Given the description of an element on the screen output the (x, y) to click on. 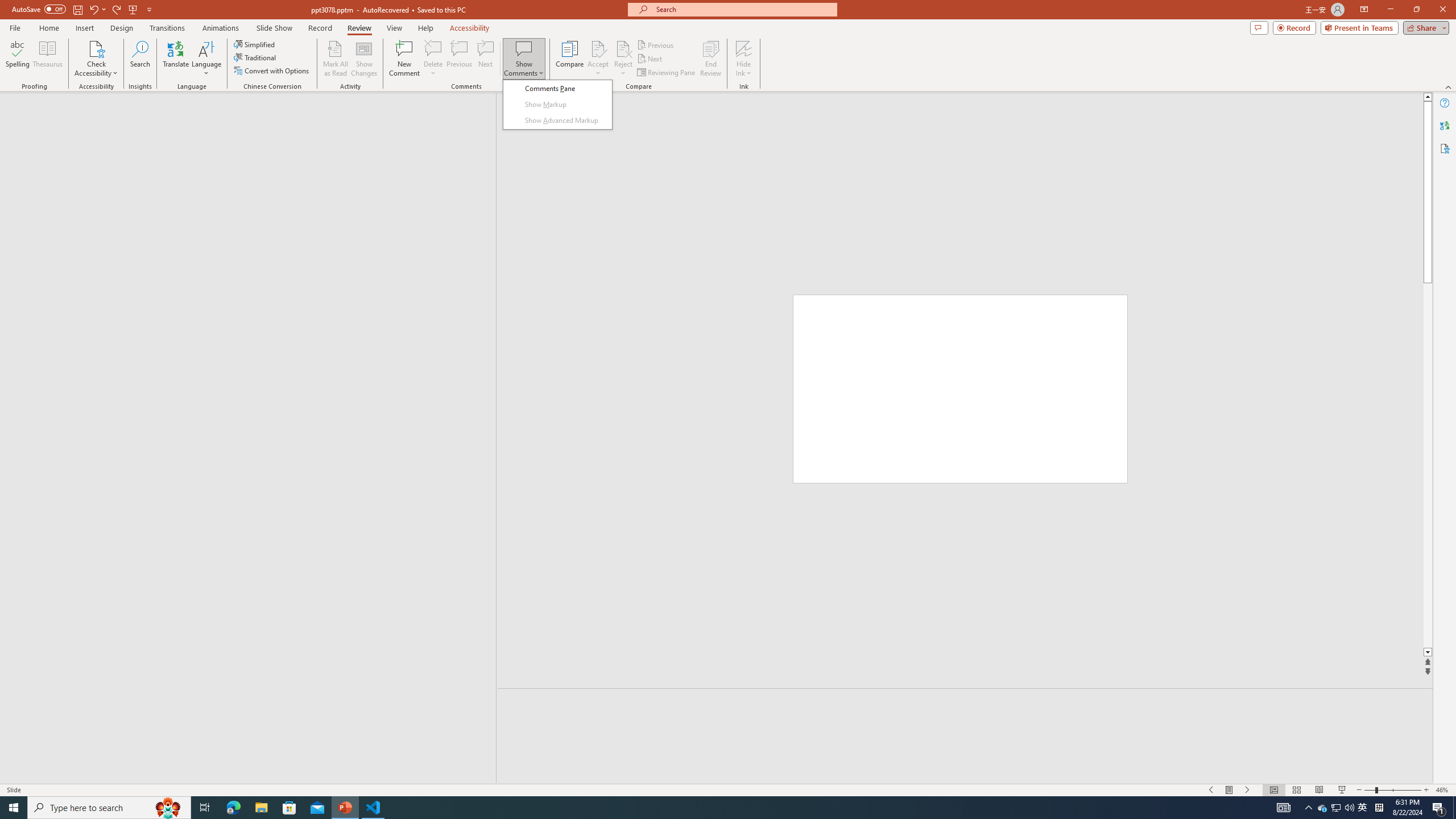
Traditional (255, 56)
Reviewing Pane (666, 72)
